Given the description of an element on the screen output the (x, y) to click on. 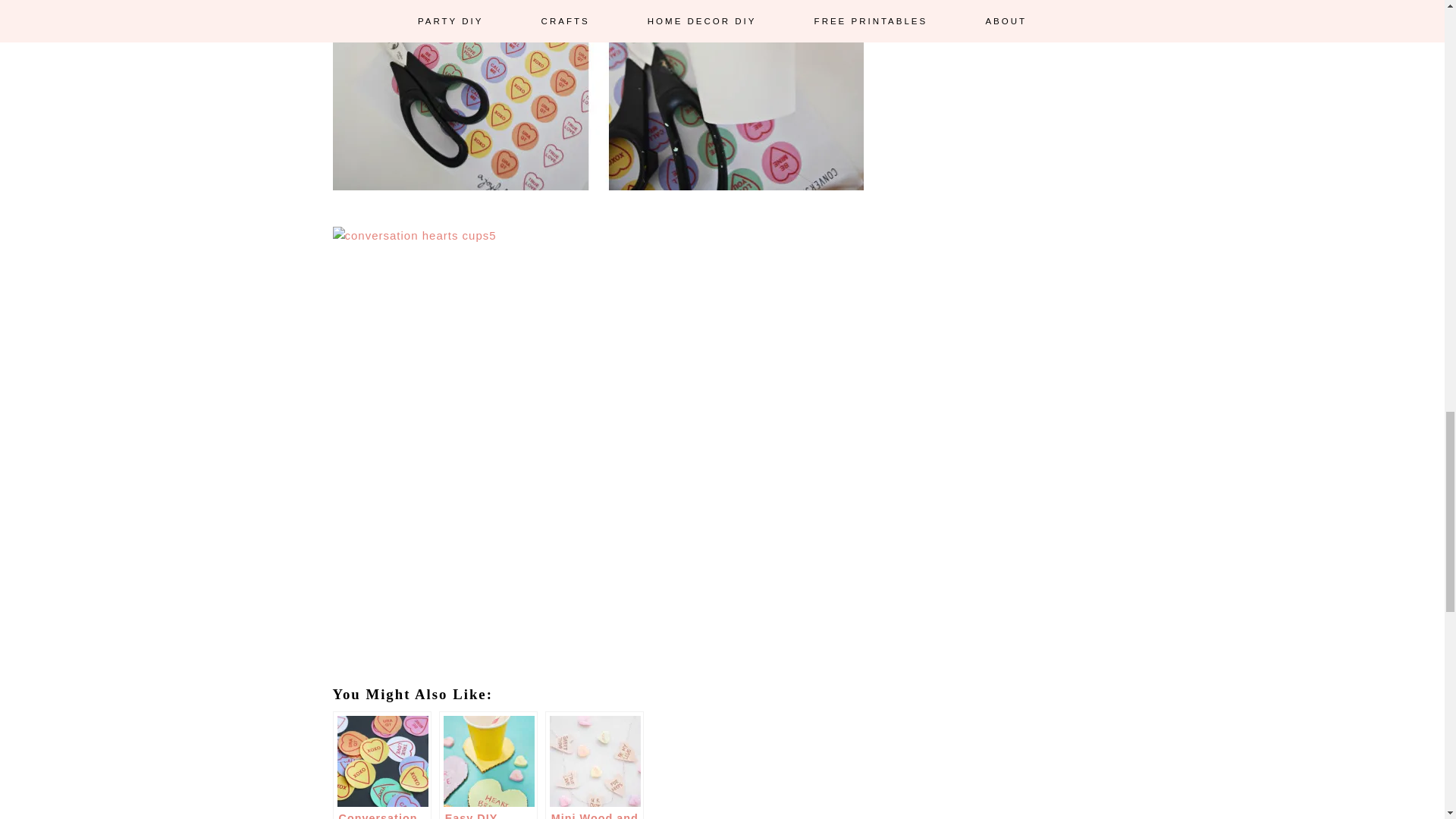
Mini Wood and Copper Conversation Heart Garland (593, 765)
Mini Wood and Copper Conversation Heart Garland (593, 765)
Easy DIY Conversation Heart Coasters (488, 765)
Easy DIY Conversation Heart Coasters (488, 765)
